Given the description of an element on the screen output the (x, y) to click on. 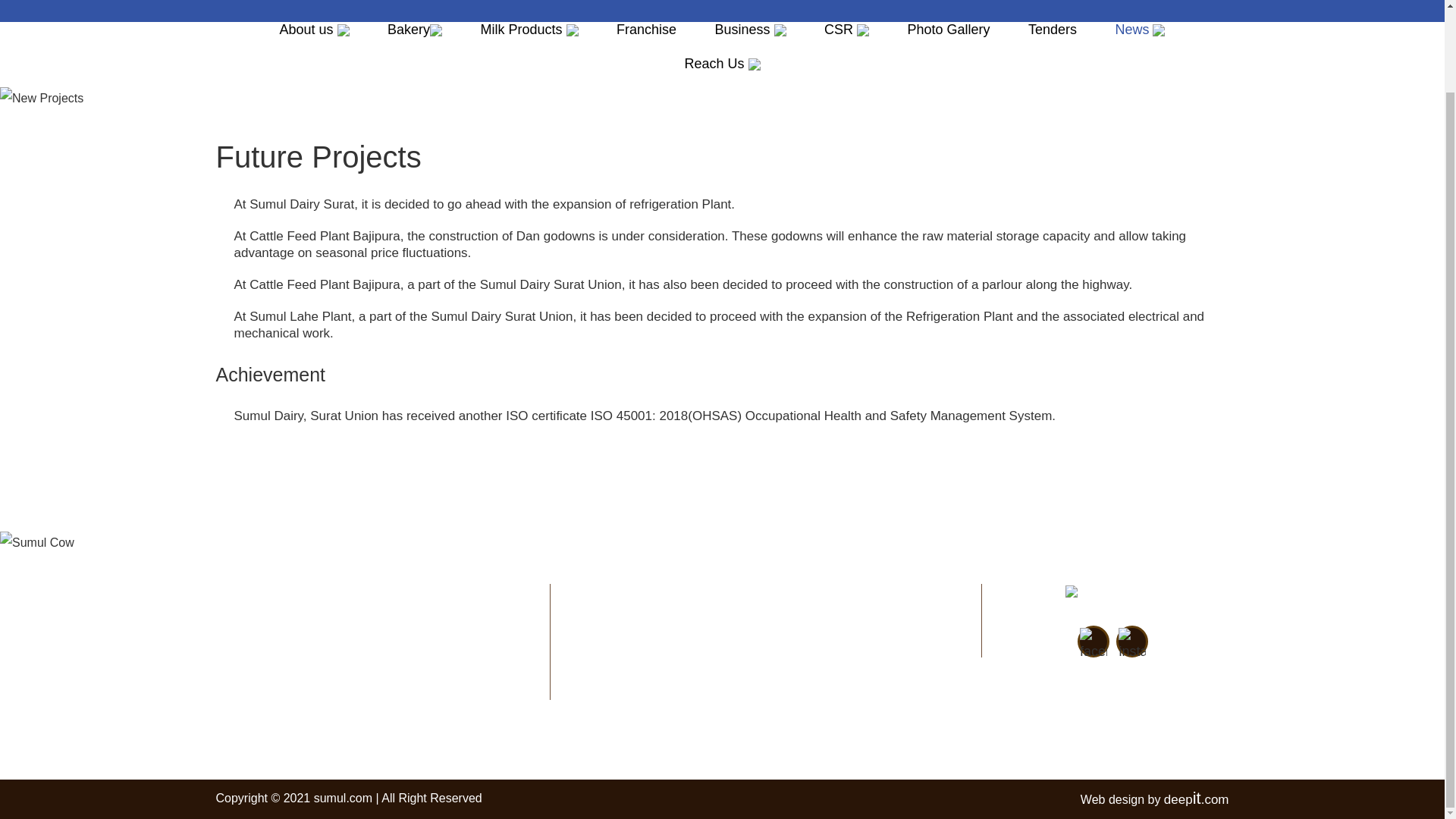
New Projects  (41, 97)
Bakery (414, 35)
About us (314, 35)
Sumul Brand (1110, 596)
